Given the description of an element on the screen output the (x, y) to click on. 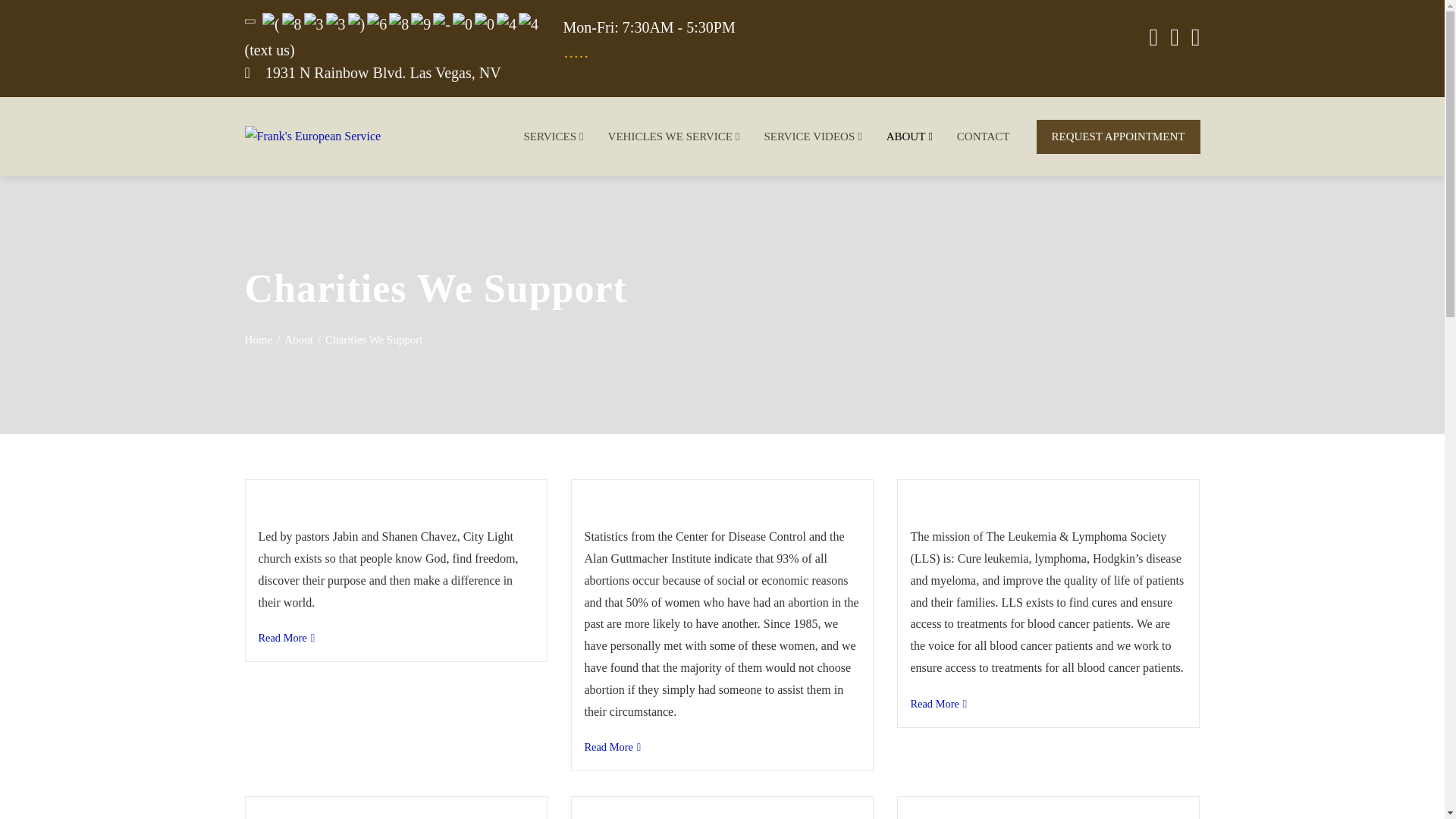
VEHICLES WE SERVICE (672, 136)
1931 N Rainbow Blvd. Las Vegas, NV (382, 72)
SERVICES (551, 136)
